Given the description of an element on the screen output the (x, y) to click on. 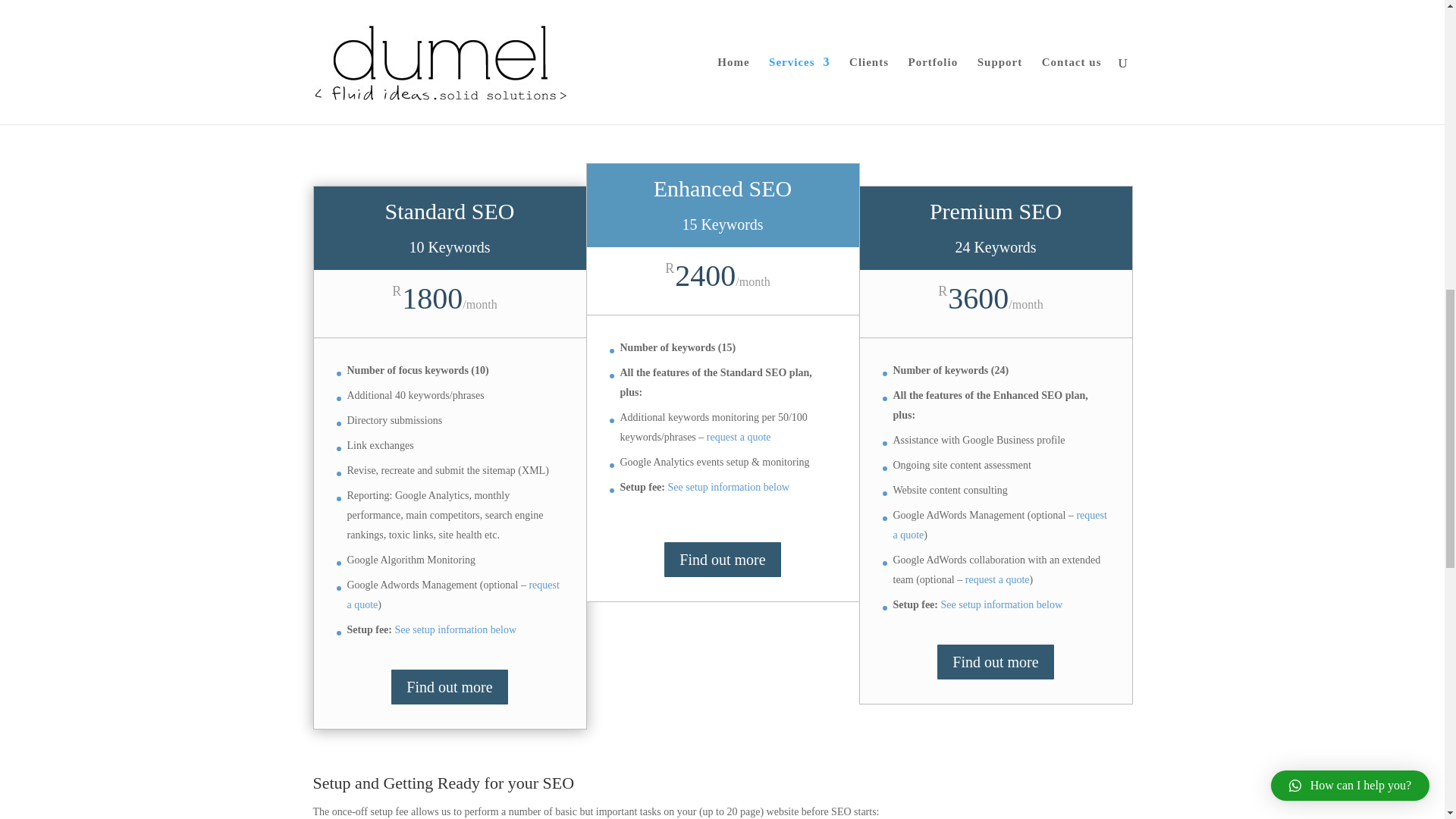
request a quote (999, 524)
See setup information below (1001, 604)
See setup information below (727, 487)
Find out more (449, 686)
request a quote (453, 594)
Find out more (995, 661)
request a quote (997, 579)
See setup information below (455, 629)
Find out more (721, 559)
request a quote (738, 437)
